Given the description of an element on the screen output the (x, y) to click on. 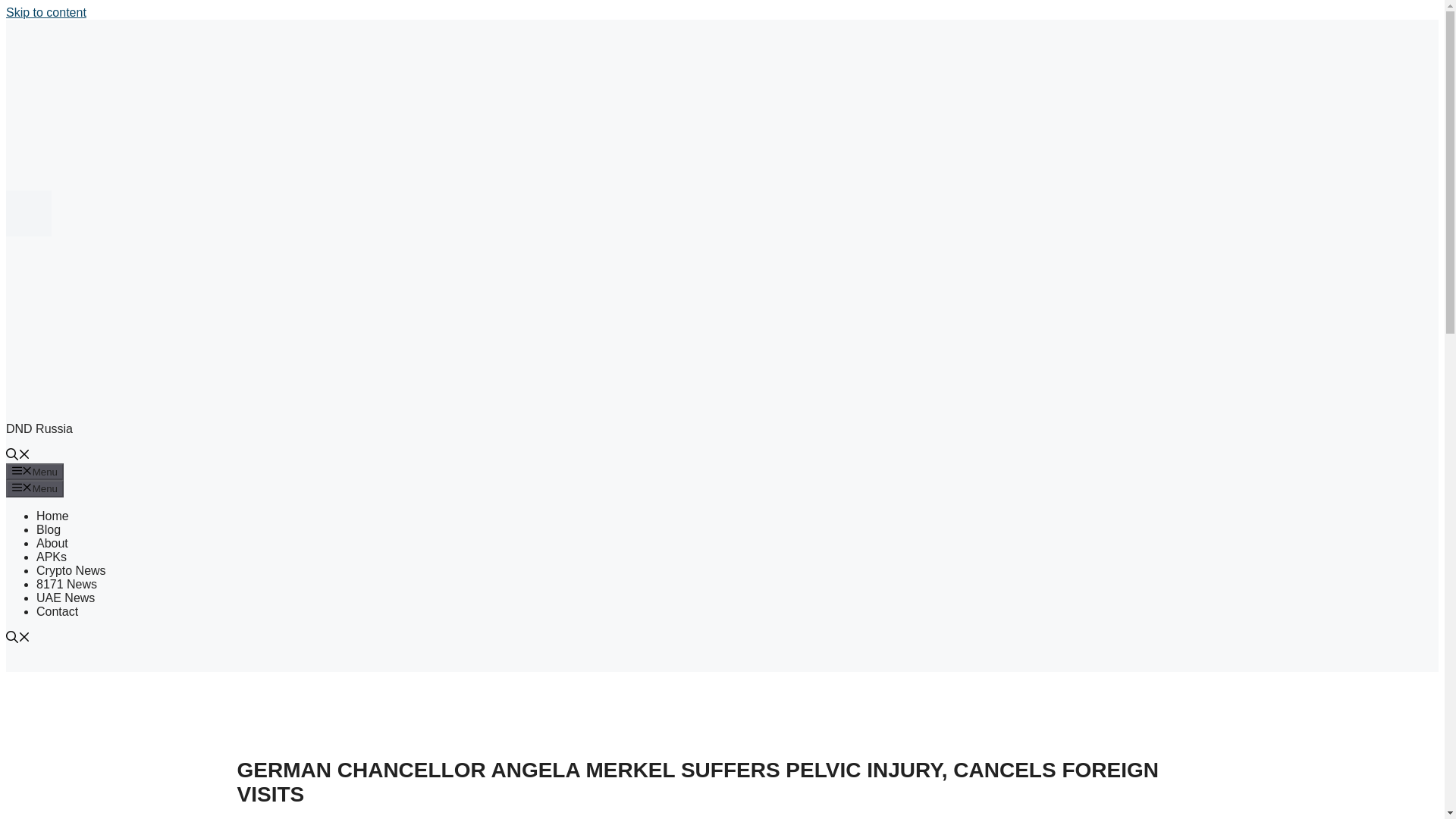
Skip to content (45, 11)
Blog (48, 529)
Contact (57, 611)
Skip to content (45, 11)
UAE News (65, 597)
Crypto News (71, 570)
Menu (34, 471)
DND Russia (38, 428)
Home (52, 515)
8171 News (66, 584)
